Given the description of an element on the screen output the (x, y) to click on. 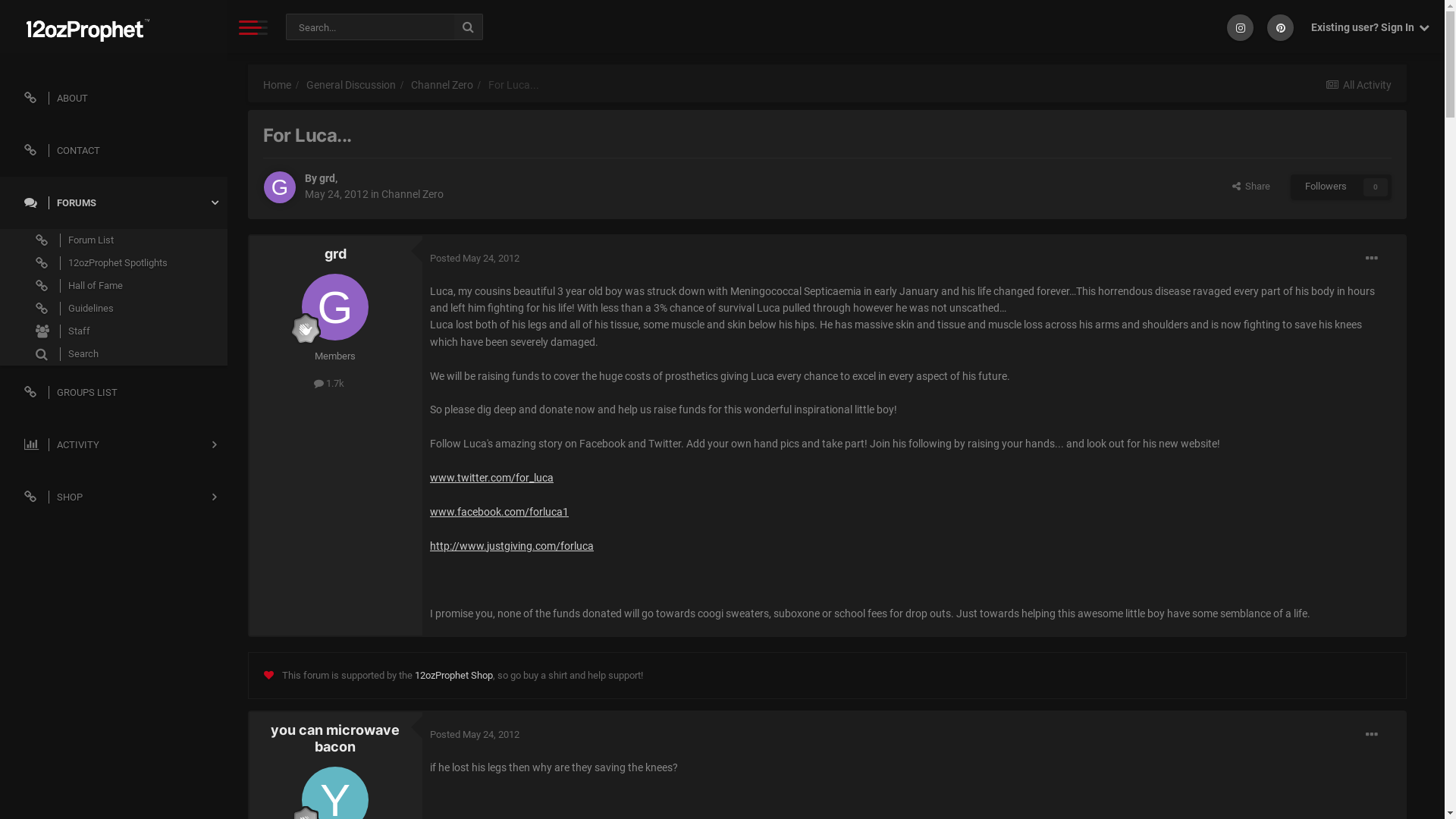
Rank: Newbie (1/14) Element type: hover (305, 328)
SHOP Element type: text (113, 496)
Existing user? Sign In   Element type: text (1370, 27)
www.facebook.com/forluca1 Element type: text (498, 511)
General Discussion Element type: text (357, 84)
 Share Element type: text (1250, 186)
Posted May 24, 2012 Element type: text (474, 734)
Channel Zero Element type: text (412, 194)
Posted May 24, 2012 Element type: text (474, 257)
http://www.justgiving.com/forluca Element type: text (511, 545)
GROUPS LIST Element type: text (113, 392)
Go to grd's profile Element type: hover (335, 307)
you can microwave bacon Element type: text (334, 737)
1.7k Element type: text (328, 383)
ACTIVITY Element type: text (113, 444)
Channel Zero Element type: text (448, 84)
Go to grd's profile Element type: hover (279, 186)
grd Element type: text (335, 253)
More options... Element type: hover (1371, 258)
Followers
0 Element type: text (1340, 186)
All Activity Element type: text (1357, 84)
Home Element type: text (283, 84)
CONTACT Element type: text (113, 150)
12ozProphet Shop Element type: text (453, 674)
www.twitter.com/for_luca Element type: text (491, 477)
FORUMS Element type: text (113, 202)
More options... Element type: hover (1371, 734)
grd Element type: text (327, 178)
ABOUT Element type: text (113, 98)
